Given the description of an element on the screen output the (x, y) to click on. 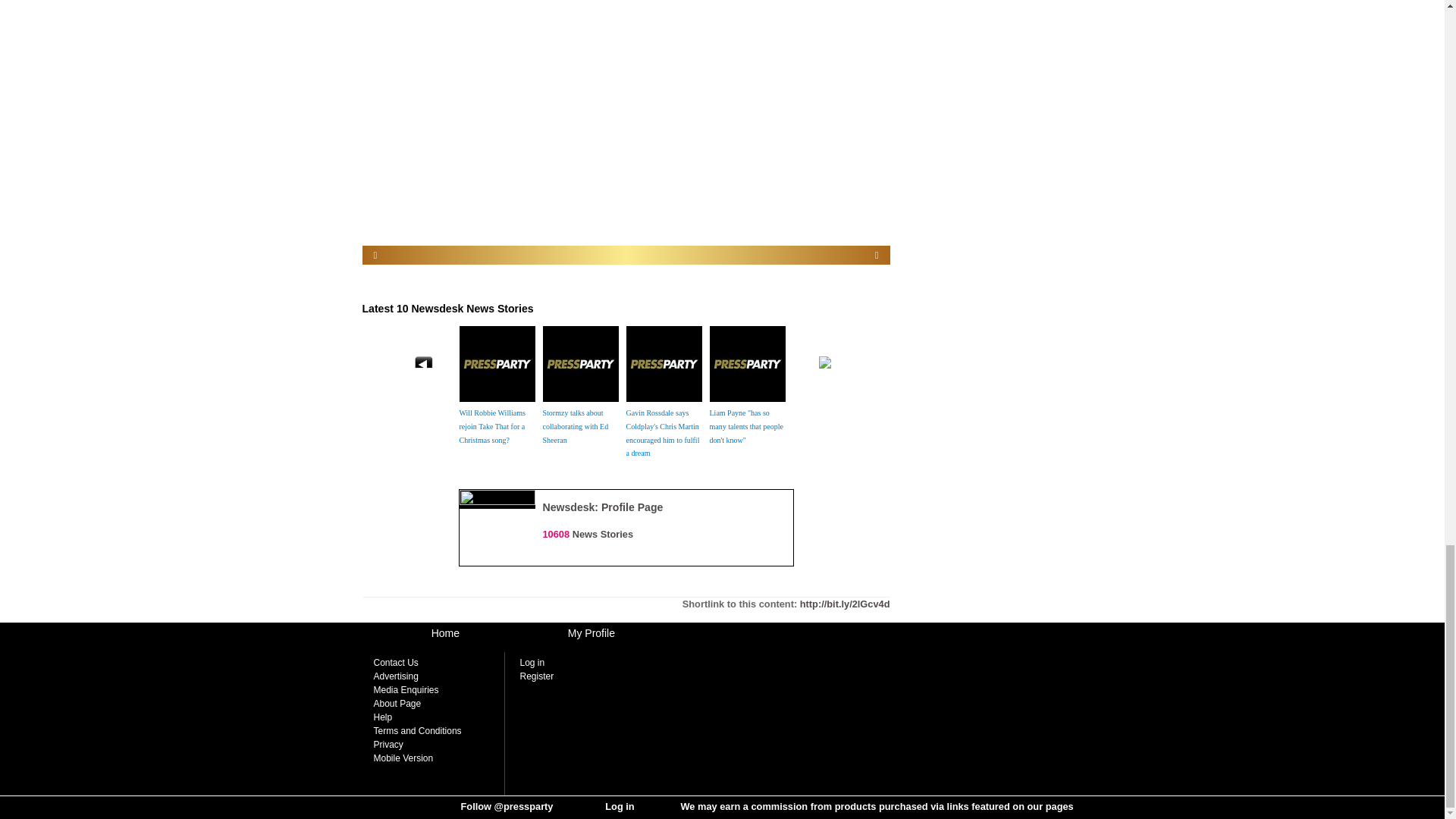
Stormzy talks about collaborating with Ed Sheeran (575, 426)
Will Robbie Williams rejoin Take That for a Christmas song? (492, 426)
Liam Payne "has so many talents that people don't know" (746, 426)
